Given the description of an element on the screen output the (x, y) to click on. 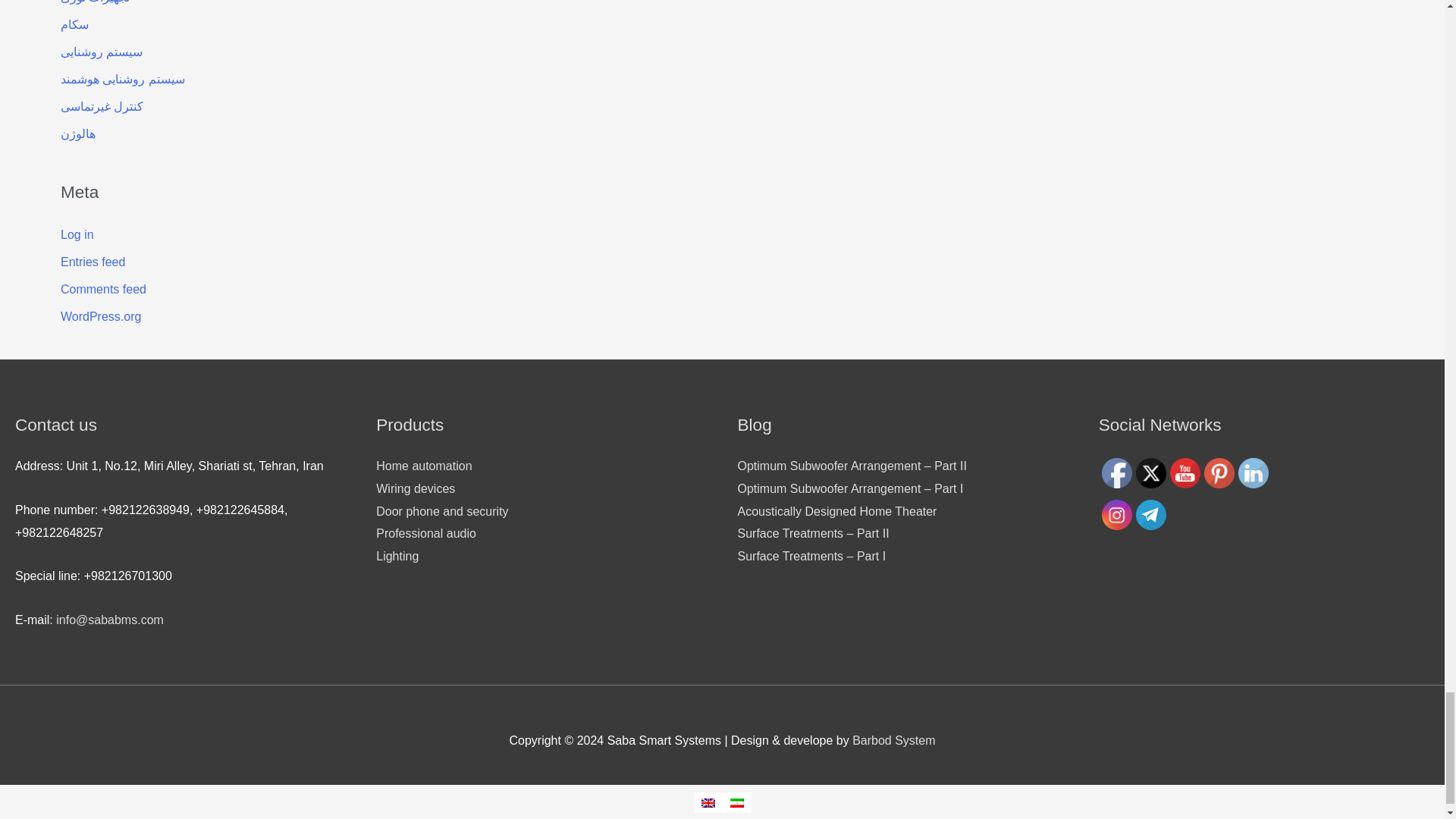
YouTube (1184, 472)
Facebook (1117, 472)
Pinterest (1219, 472)
Twitter (1150, 472)
